Given the description of an element on the screen output the (x, y) to click on. 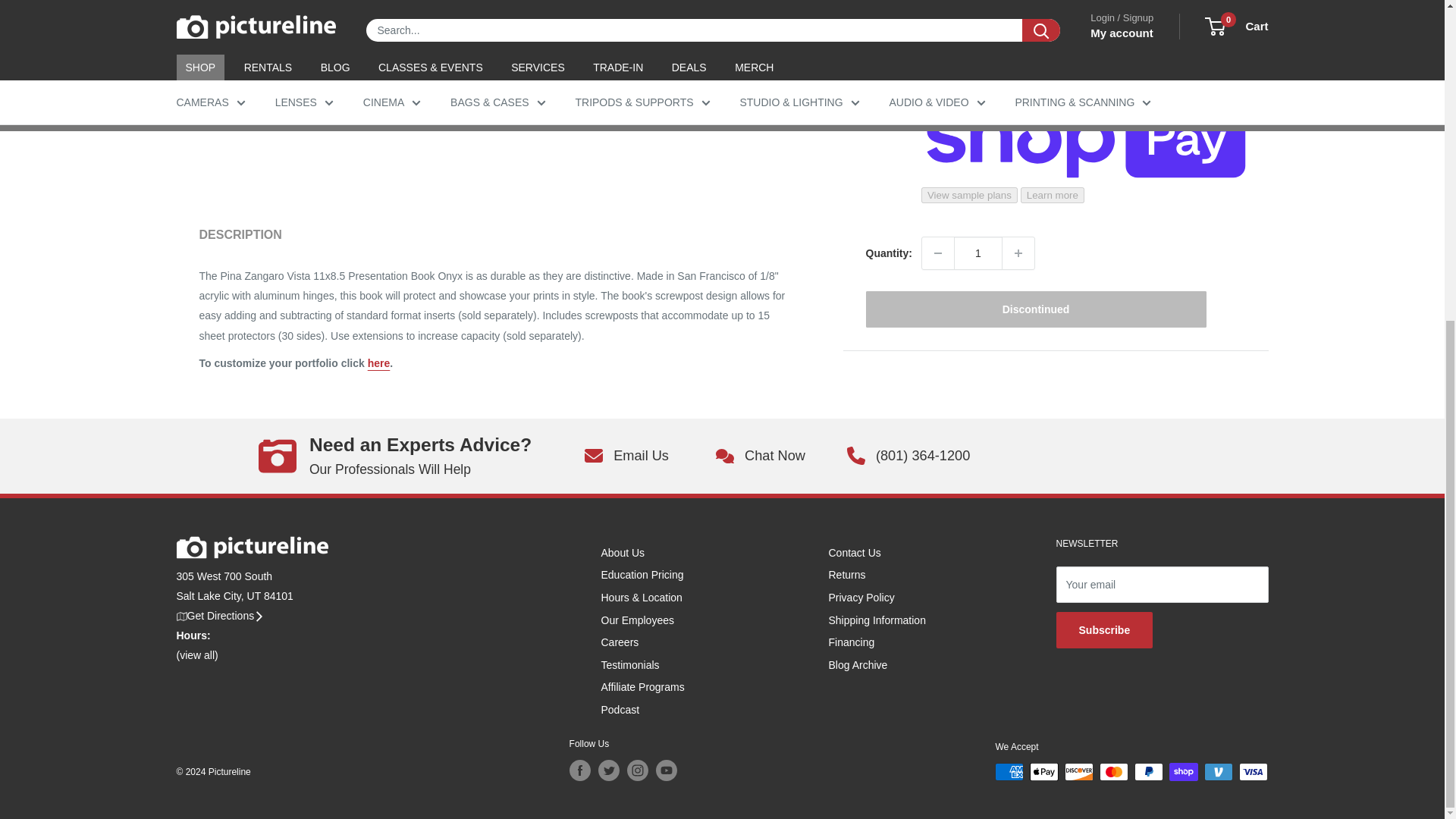
Increase quantity by 1 (1018, 9)
1 (978, 9)
Decrease quantity by 1 (937, 9)
